Given the description of an element on the screen output the (x, y) to click on. 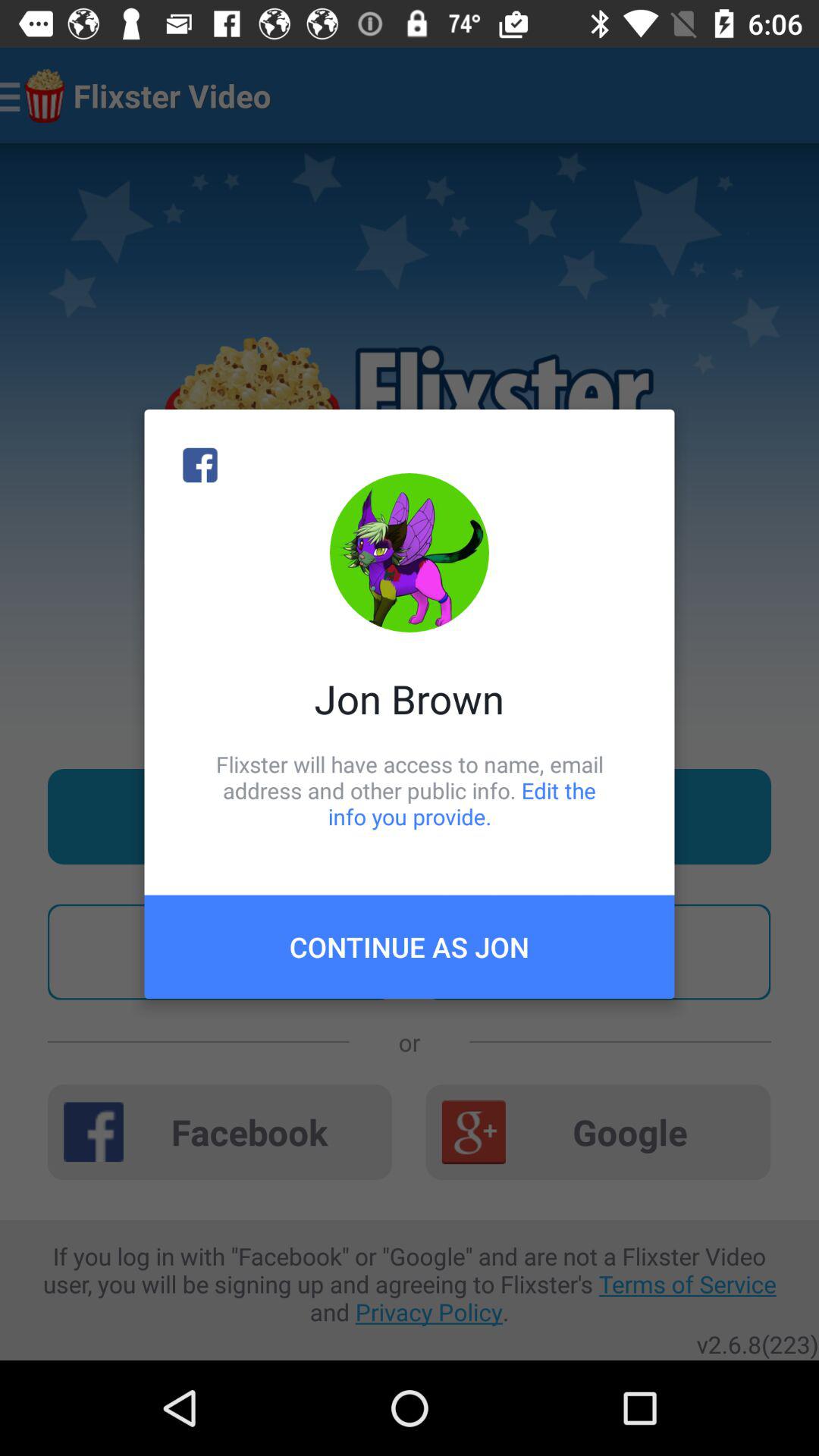
open the continue as jon icon (409, 946)
